Given the description of an element on the screen output the (x, y) to click on. 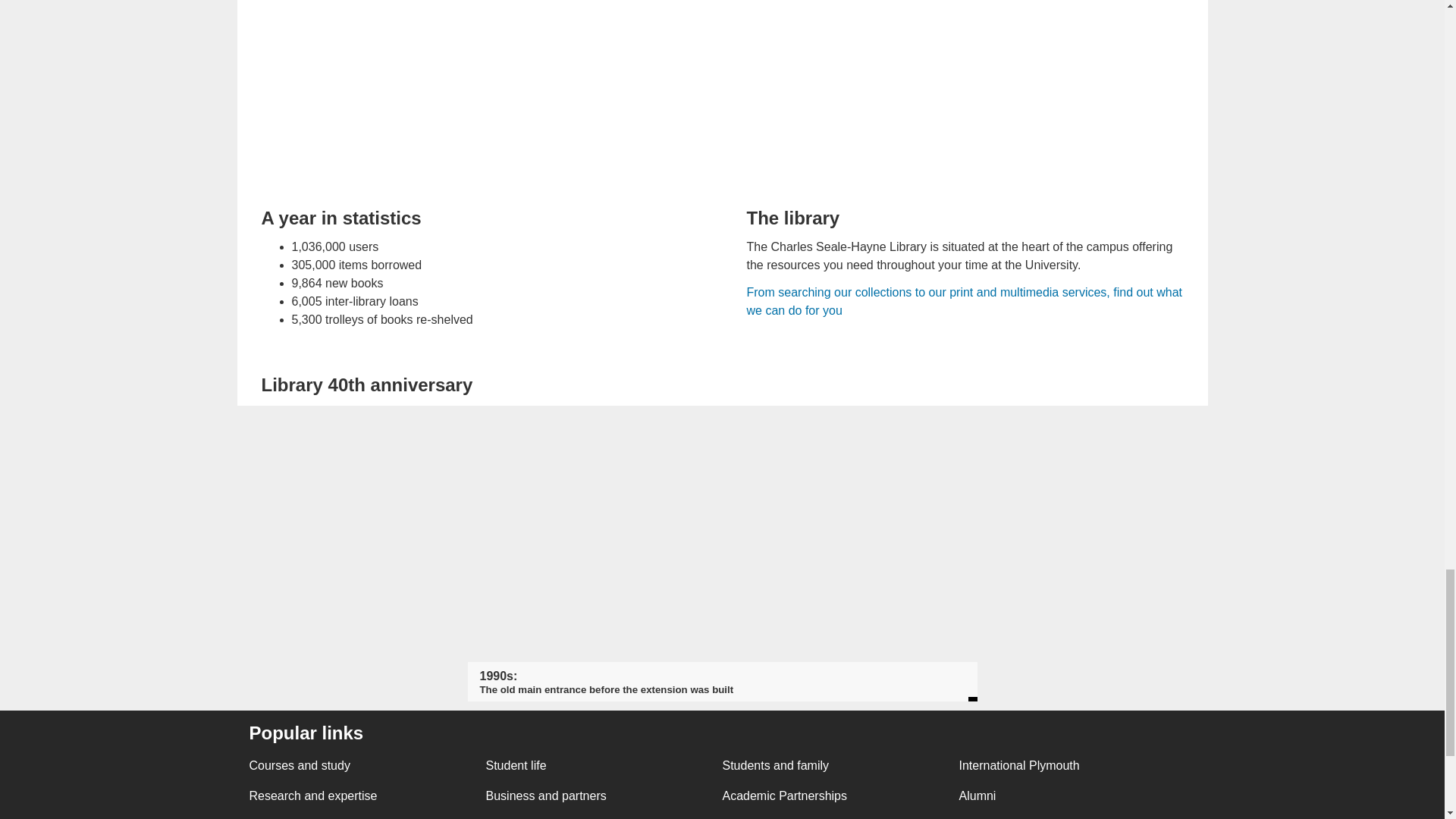
Entrance to the library in the 1990s (721, 423)
